Given the description of an element on the screen output the (x, y) to click on. 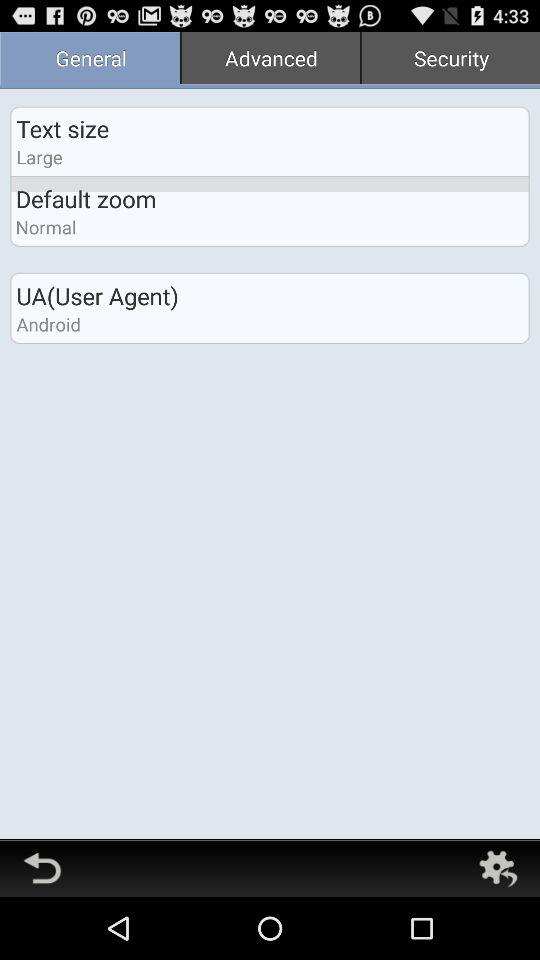
press the icon below large icon (85, 198)
